Given the description of an element on the screen output the (x, y) to click on. 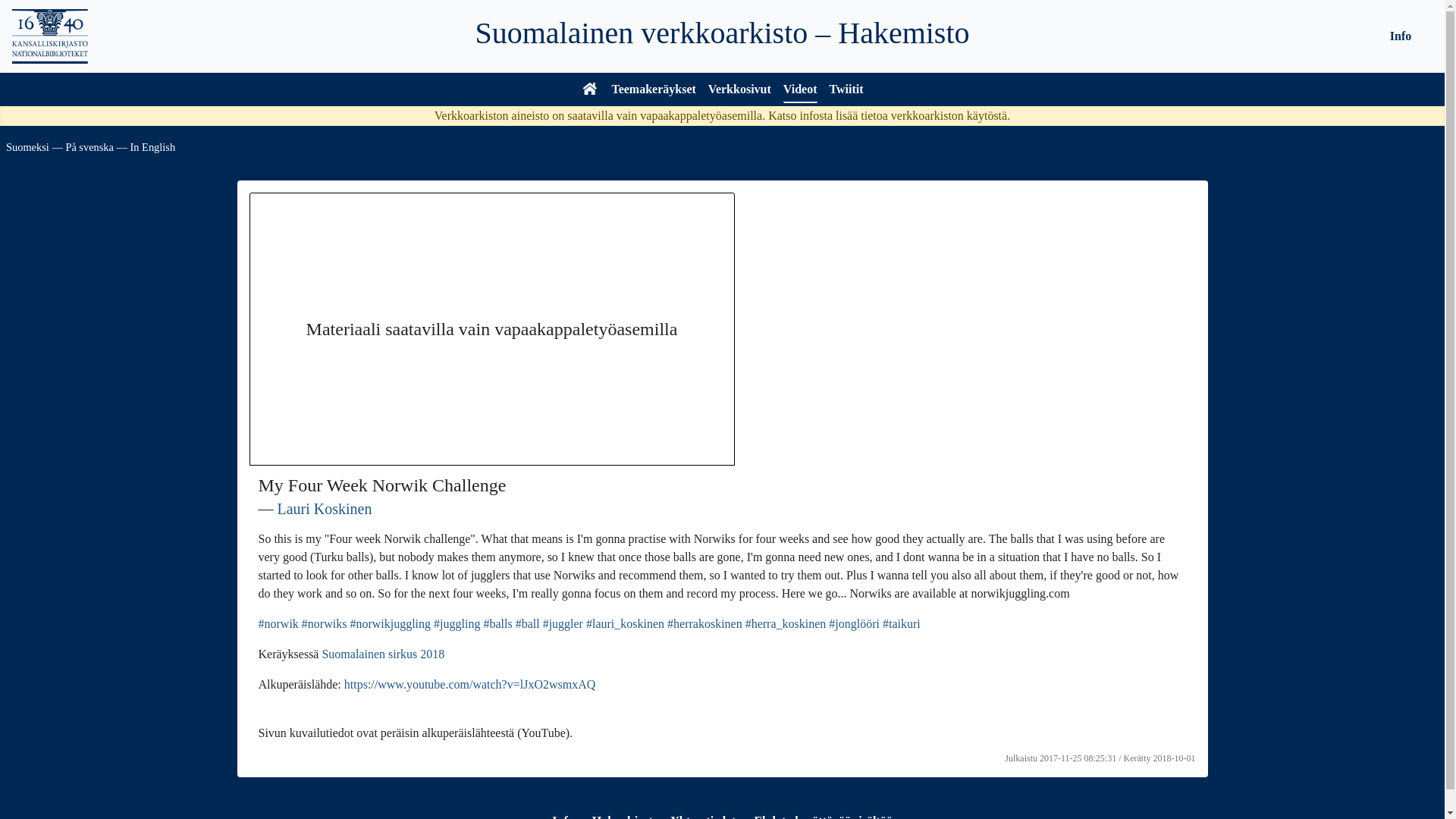
Lauri Koskinen (325, 508)
Hakuohjeet (622, 816)
In English (153, 146)
Verkkosivut (739, 90)
Info (562, 816)
Videot (799, 90)
Suomalainen sirkus 2018 (382, 653)
Suomeksi (27, 146)
Yhteystiedot (702, 816)
Twiitit (846, 90)
